Given the description of an element on the screen output the (x, y) to click on. 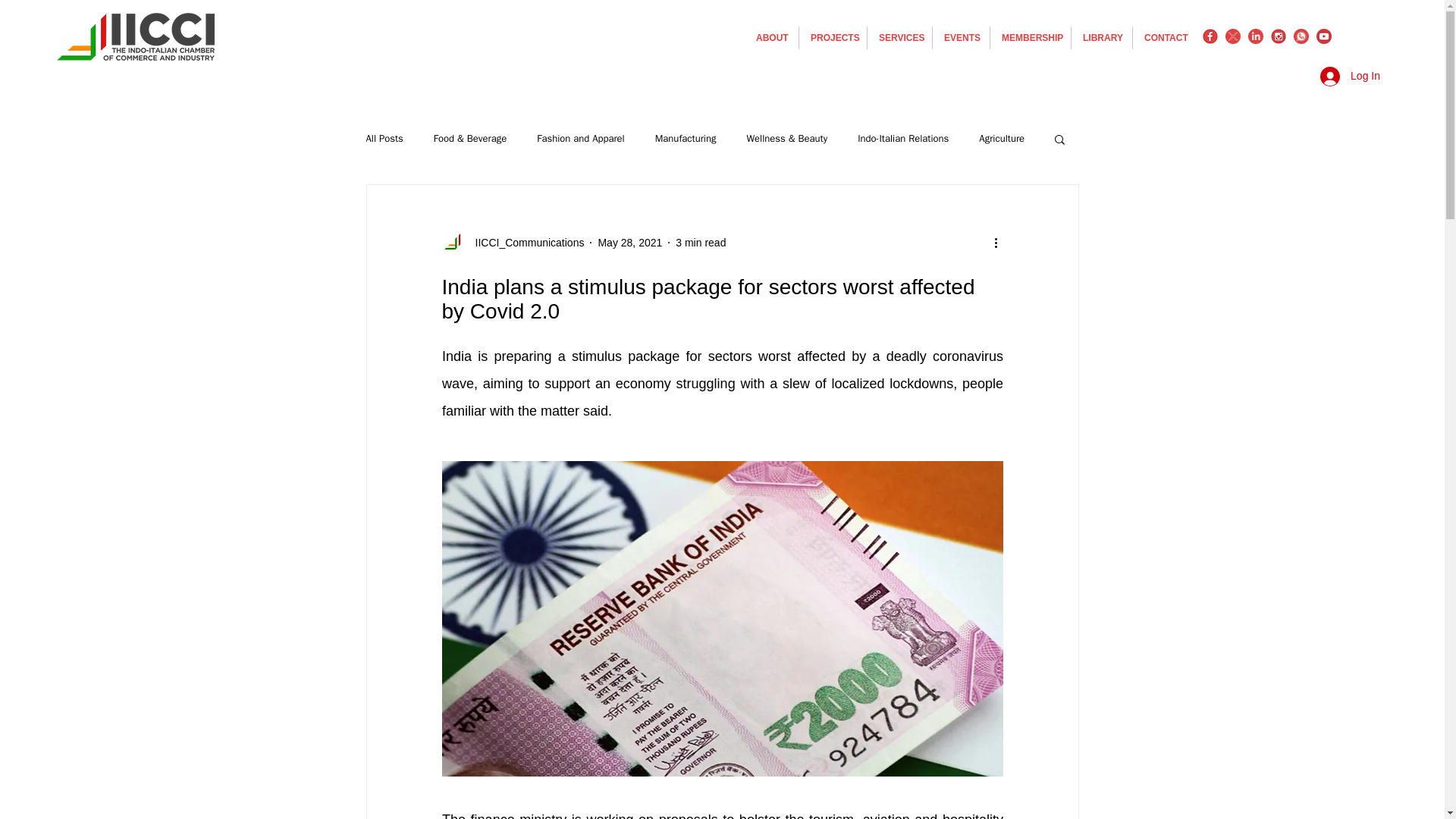
May 28, 2021 (629, 242)
3 min read (700, 242)
EVENTS (961, 37)
PROJECTS (832, 37)
ABOUT (770, 37)
MEMBERSHIP (1030, 37)
SERVICES (899, 37)
LIBRARY (1101, 37)
CONTACT (1164, 37)
